Given the description of an element on the screen output the (x, y) to click on. 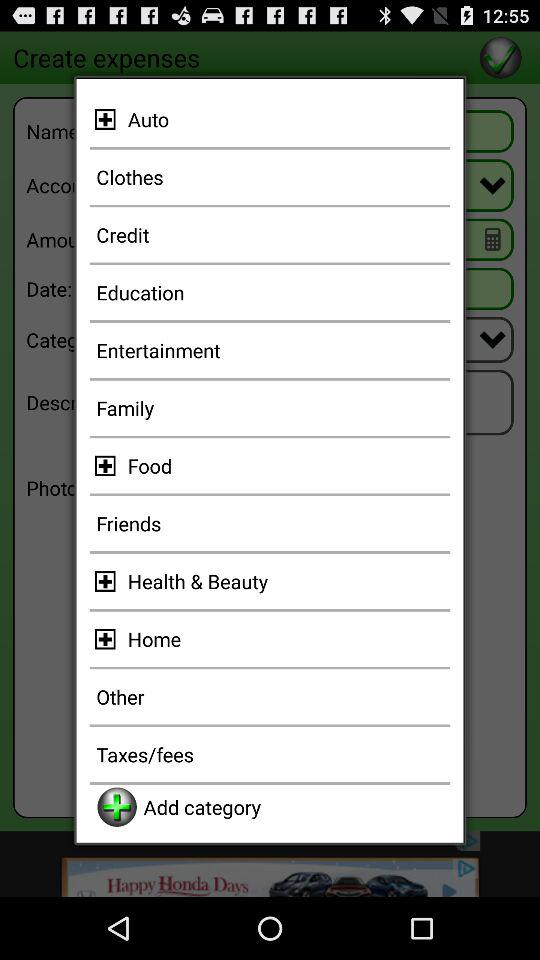
less options (108, 119)
